Given the description of an element on the screen output the (x, y) to click on. 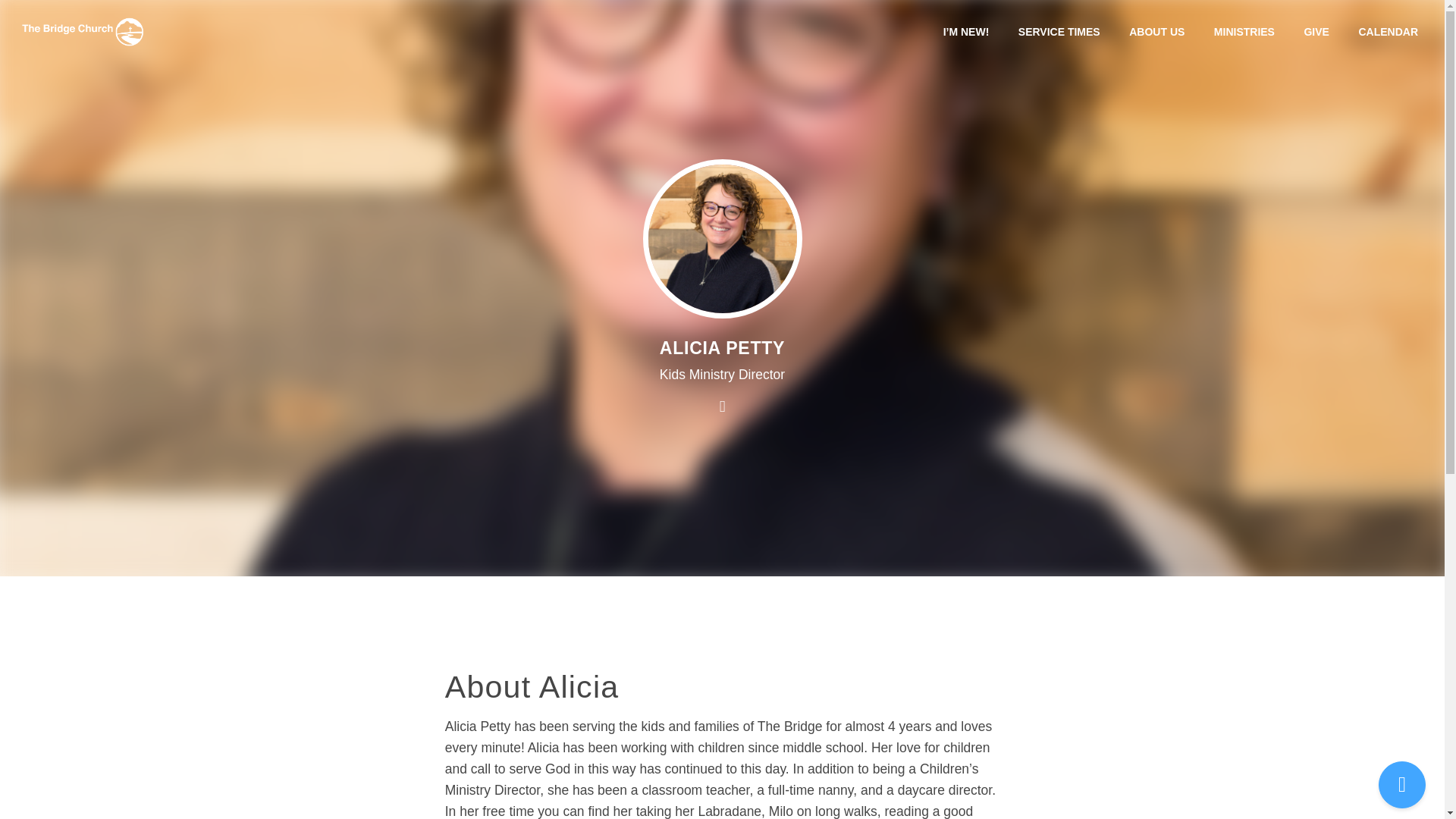
GIVE (1315, 31)
ABOUT US (1156, 31)
MINISTRIES (1243, 31)
SERVICE TIMES (1059, 31)
CALENDAR (1387, 31)
